Given the description of an element on the screen output the (x, y) to click on. 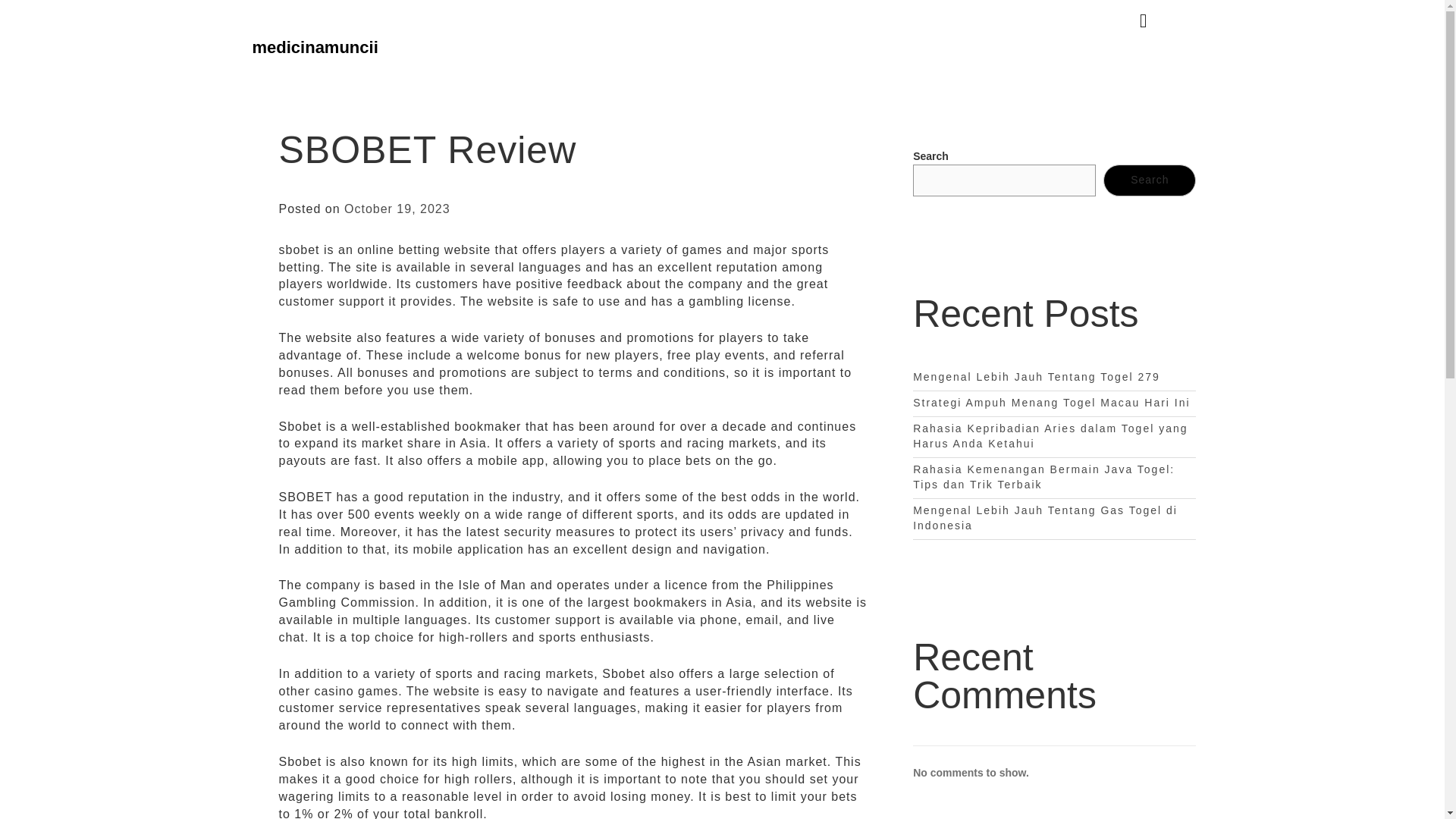
Rahasia Kemenangan Bermain Java Togel: Tips dan Trik Terbaik (1043, 476)
Strategi Ampuh Menang Togel Macau Hari Ini (1050, 402)
October 19, 2023 (396, 208)
Search (1149, 180)
Mengenal Lebih Jauh Tentang Gas Togel di Indonesia (1044, 517)
medicinamuncii (314, 46)
Mengenal Lebih Jauh Tentang Togel 279 (1036, 377)
